Given the description of an element on the screen output the (x, y) to click on. 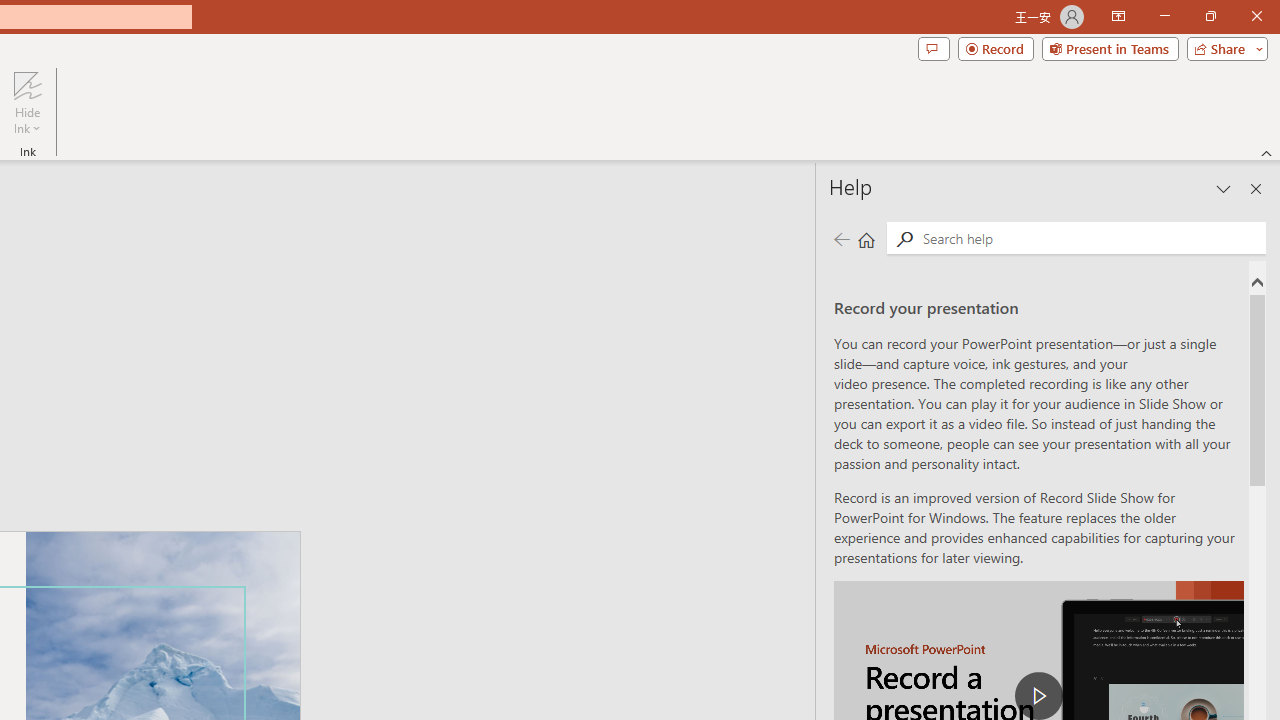
Hide Ink (27, 102)
Previous page (841, 238)
Hide Ink (27, 84)
